Given the description of an element on the screen output the (x, y) to click on. 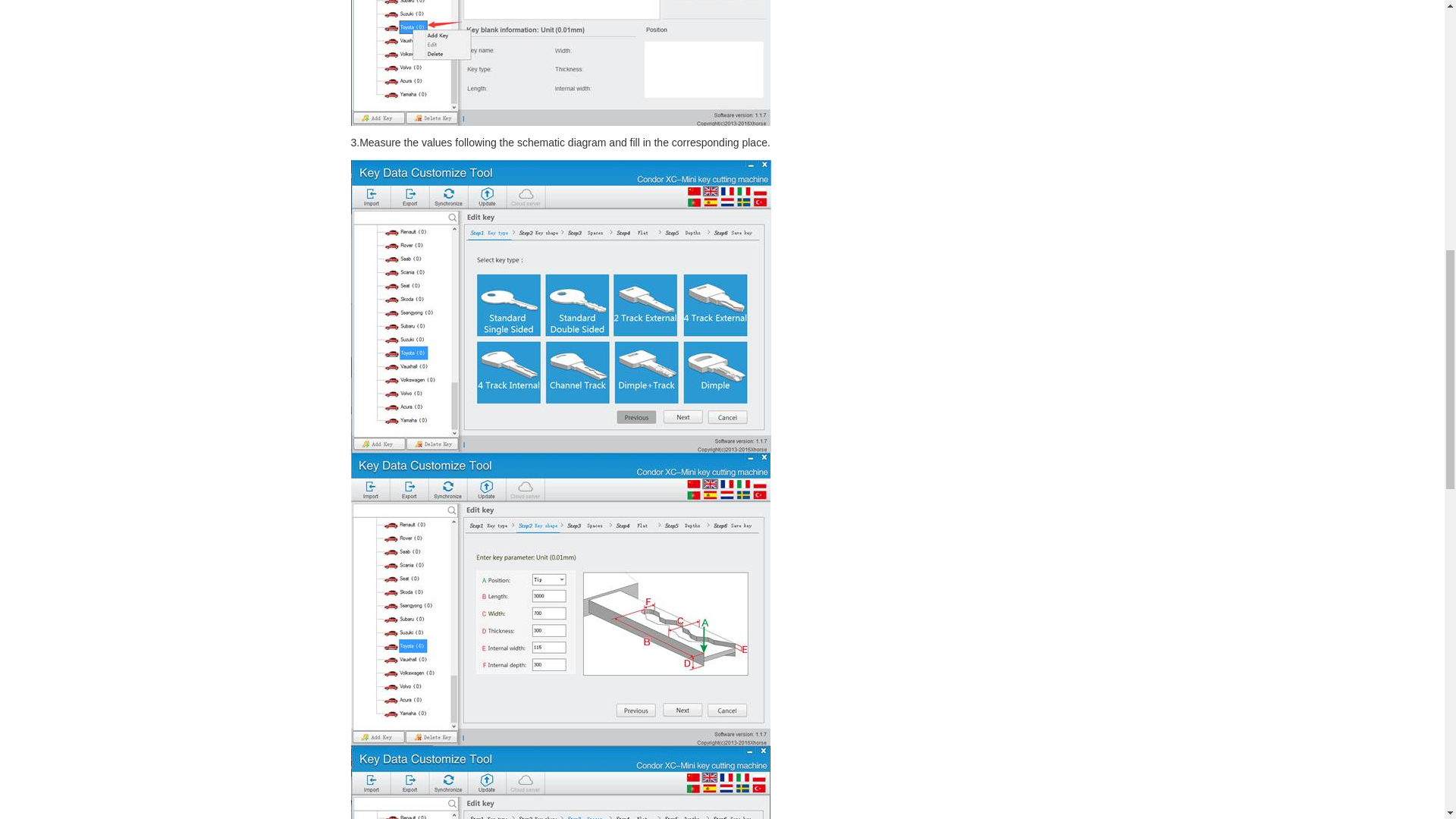
condor-xc-mini-customize-key-file-02  (560, 63)
condor-xc-mini-customize-key-file-05  (560, 782)
condor-xc-mini-customize-key-file-04  (560, 598)
condor-xc-mini-customize-key-file-03  (560, 305)
